Given the description of an element on the screen output the (x, y) to click on. 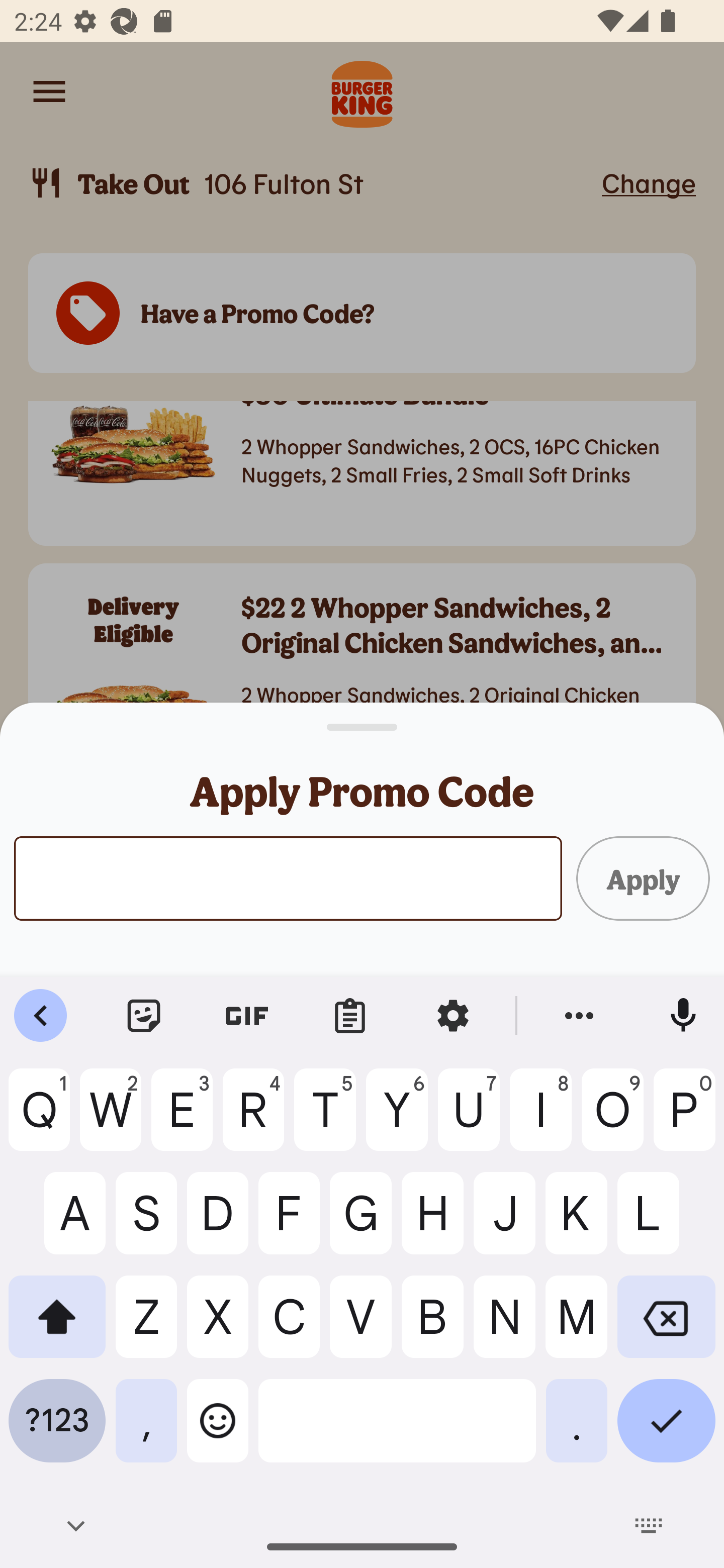
Apply (643, 877)
